Given the description of an element on the screen output the (x, y) to click on. 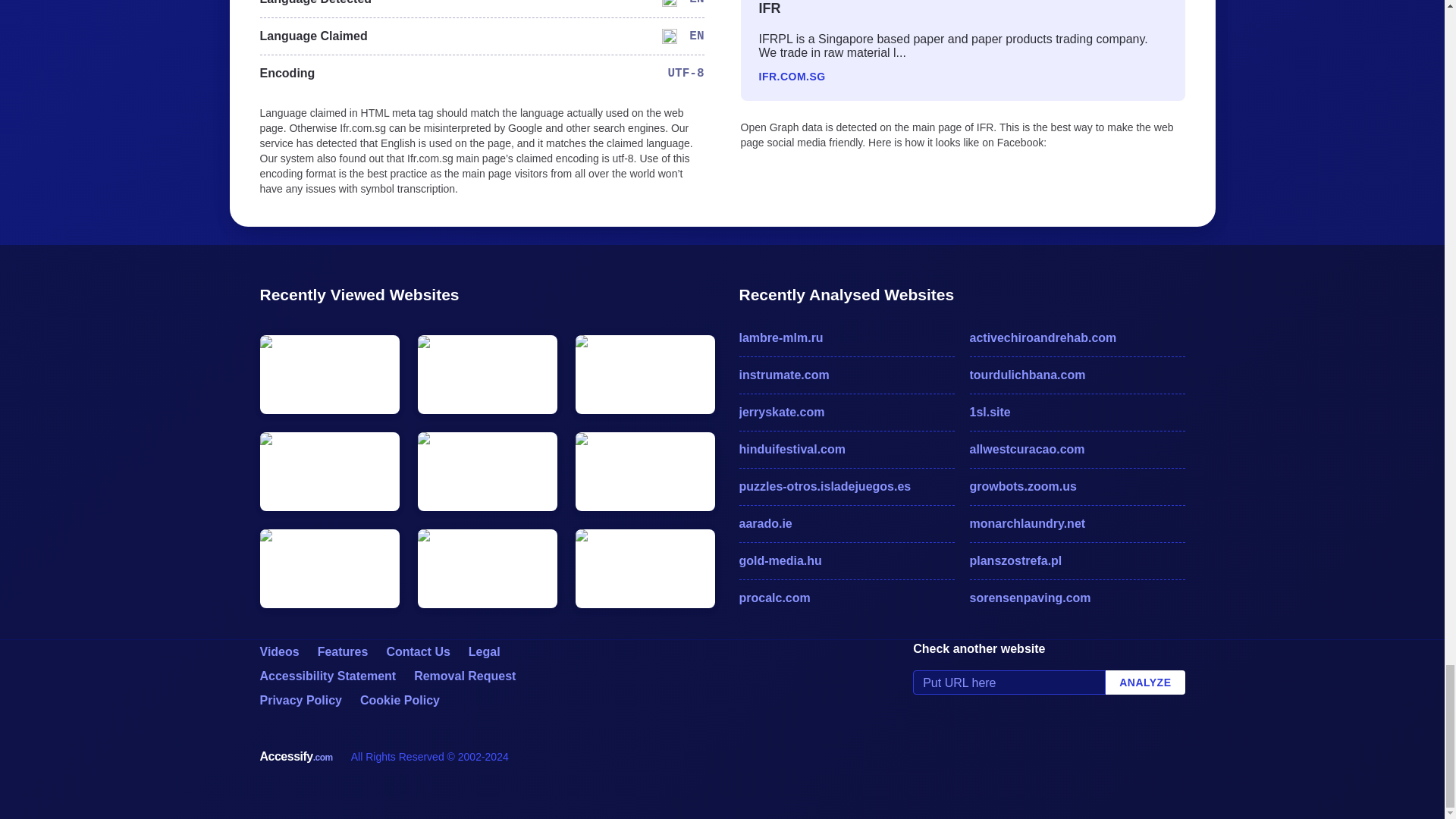
Screencasts: video tutorials and guides (278, 651)
lambre-mlm.ru (845, 338)
Features (342, 651)
planszostrefa.pl (1077, 561)
puzzles-otros.isladejuegos.es (845, 486)
jerryskate.com (845, 412)
gold-media.hu (845, 561)
instrumate.com (845, 375)
monarchlaundry.net (1077, 524)
sorensenpaving.com (1077, 597)
